Given the description of an element on the screen output the (x, y) to click on. 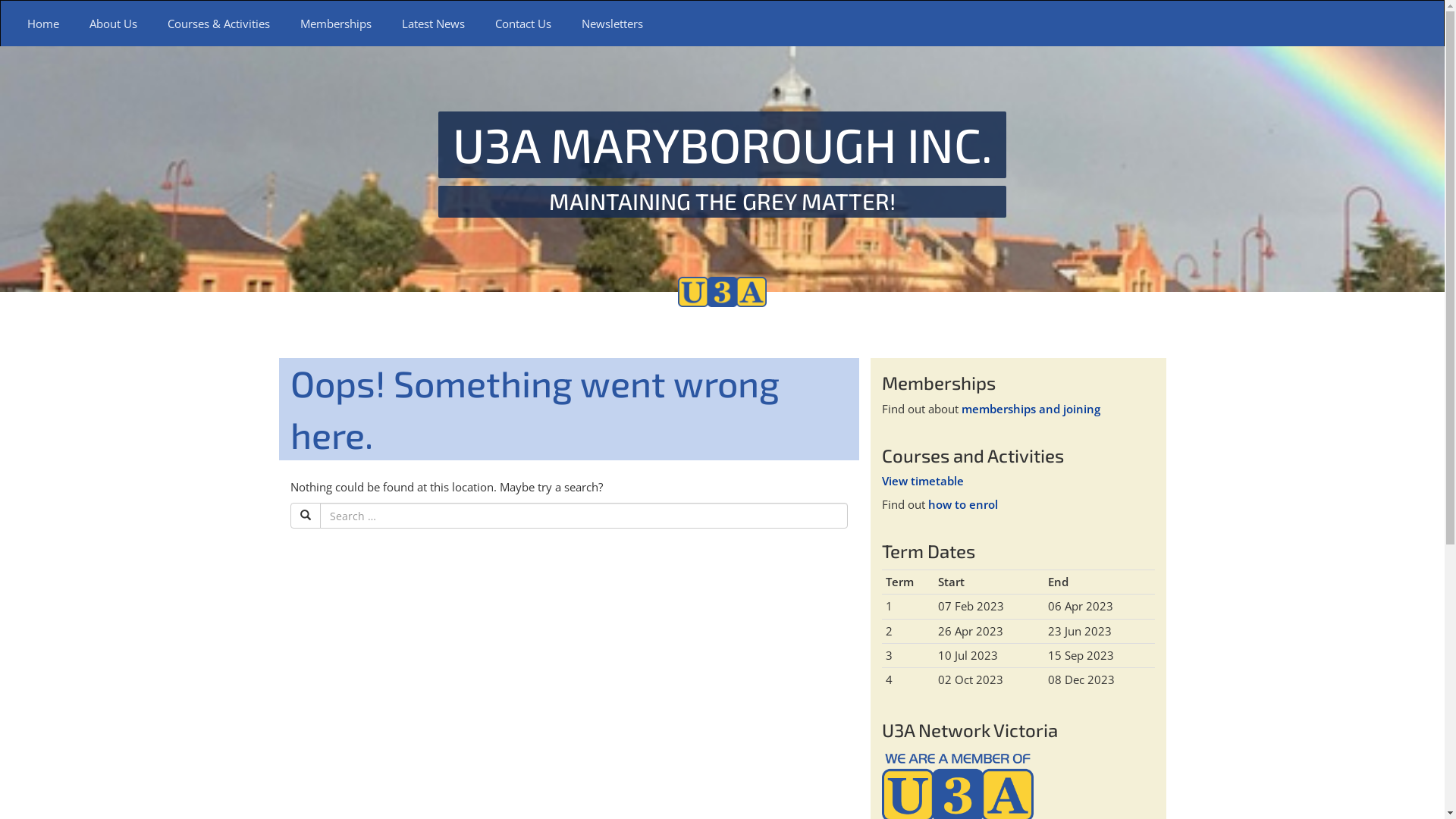
Memberships Element type: text (335, 23)
Search for: Element type: hover (583, 515)
View timetable Element type: text (922, 480)
Latest News Element type: text (433, 23)
Contact Us Element type: text (523, 23)
Newsletters Element type: text (612, 23)
Courses & Activities Element type: text (218, 23)
U3A MARYBOROUGH INC.
MAINTAINING THE GREY MATTER! Element type: text (722, 163)
how to enrol Element type: text (962, 503)
memberships and joining Element type: text (1030, 408)
Home Element type: text (43, 23)
About Us Element type: text (113, 23)
